Given the description of an element on the screen output the (x, y) to click on. 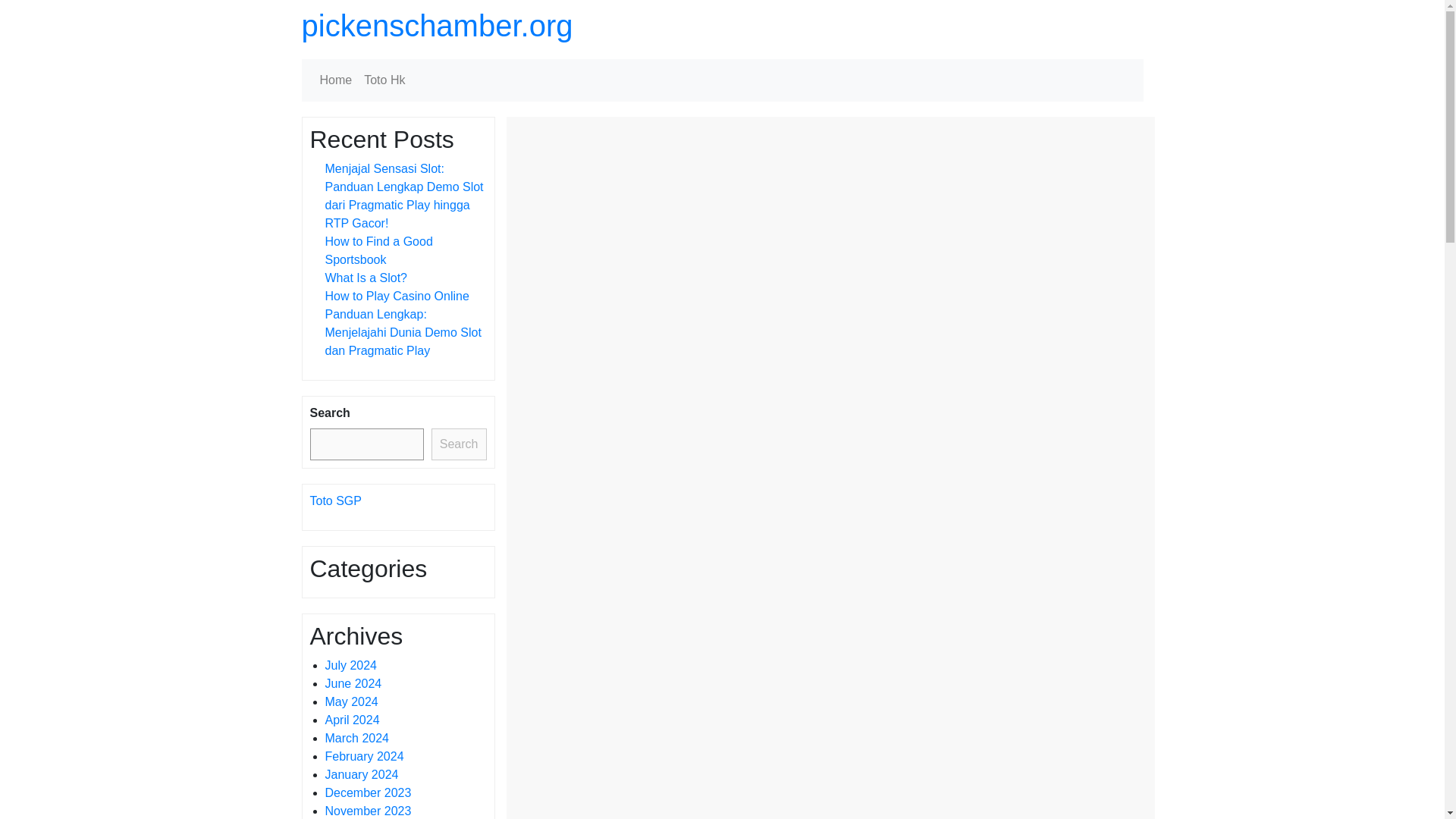
pickenschamber.org (437, 25)
What Is a Slot? (365, 277)
1:33 am (615, 225)
Toto Hk (384, 80)
March 2024 (356, 738)
June 2024 (352, 683)
May 2024 (350, 701)
January 2024 (360, 774)
pickenschamber.org (437, 25)
Toto SGP (334, 500)
July 2024 (350, 665)
February 2024 (363, 756)
Home (336, 80)
November 2023 (367, 810)
